Given the description of an element on the screen output the (x, y) to click on. 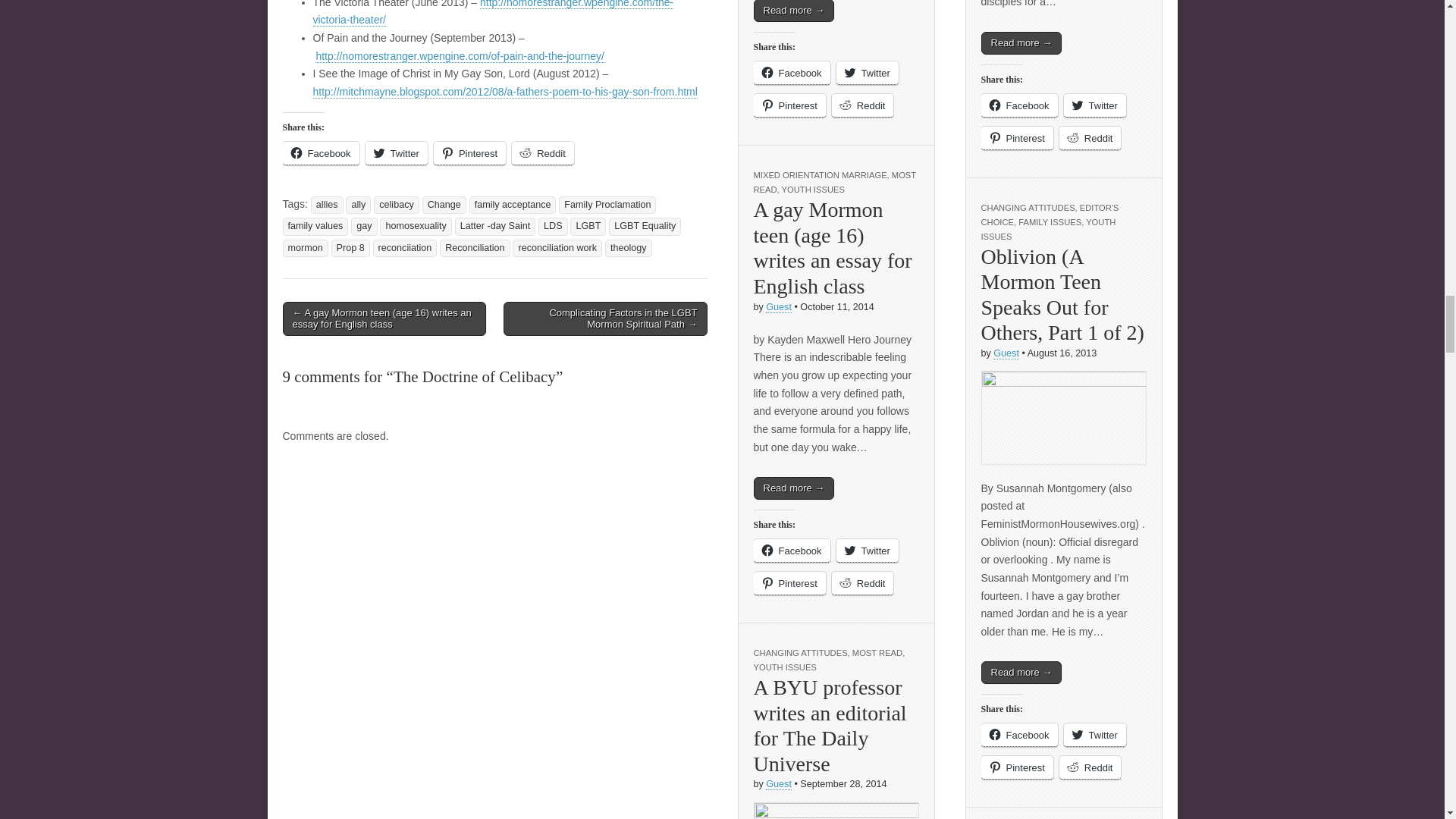
Click to share on Pinterest (469, 153)
Click to share on Facebook (320, 153)
Click to share on Twitter (396, 153)
Click to share on Reddit (542, 153)
